Given the description of an element on the screen output the (x, y) to click on. 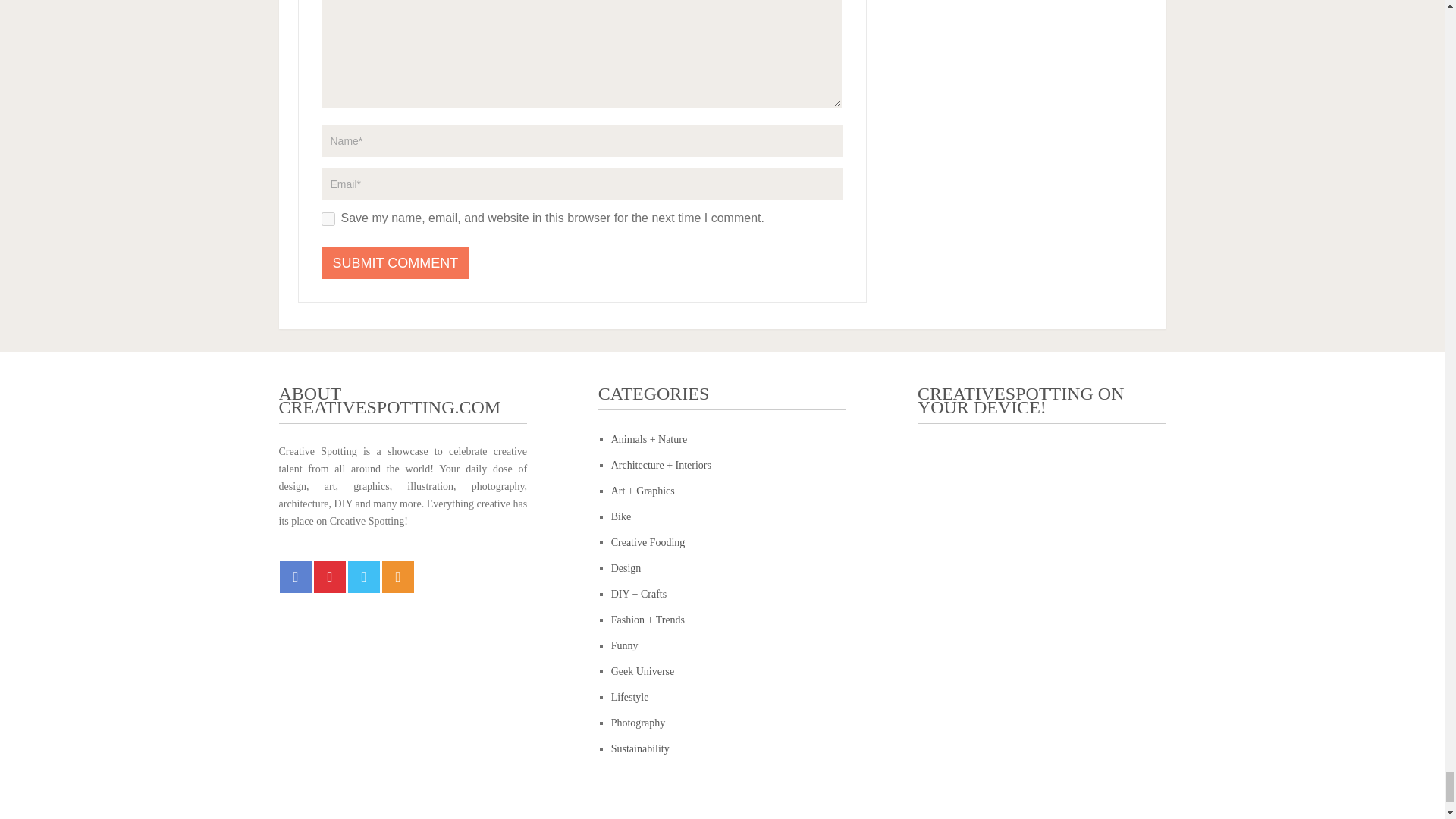
Submit Comment (395, 263)
yes (327, 219)
